Given the description of an element on the screen output the (x, y) to click on. 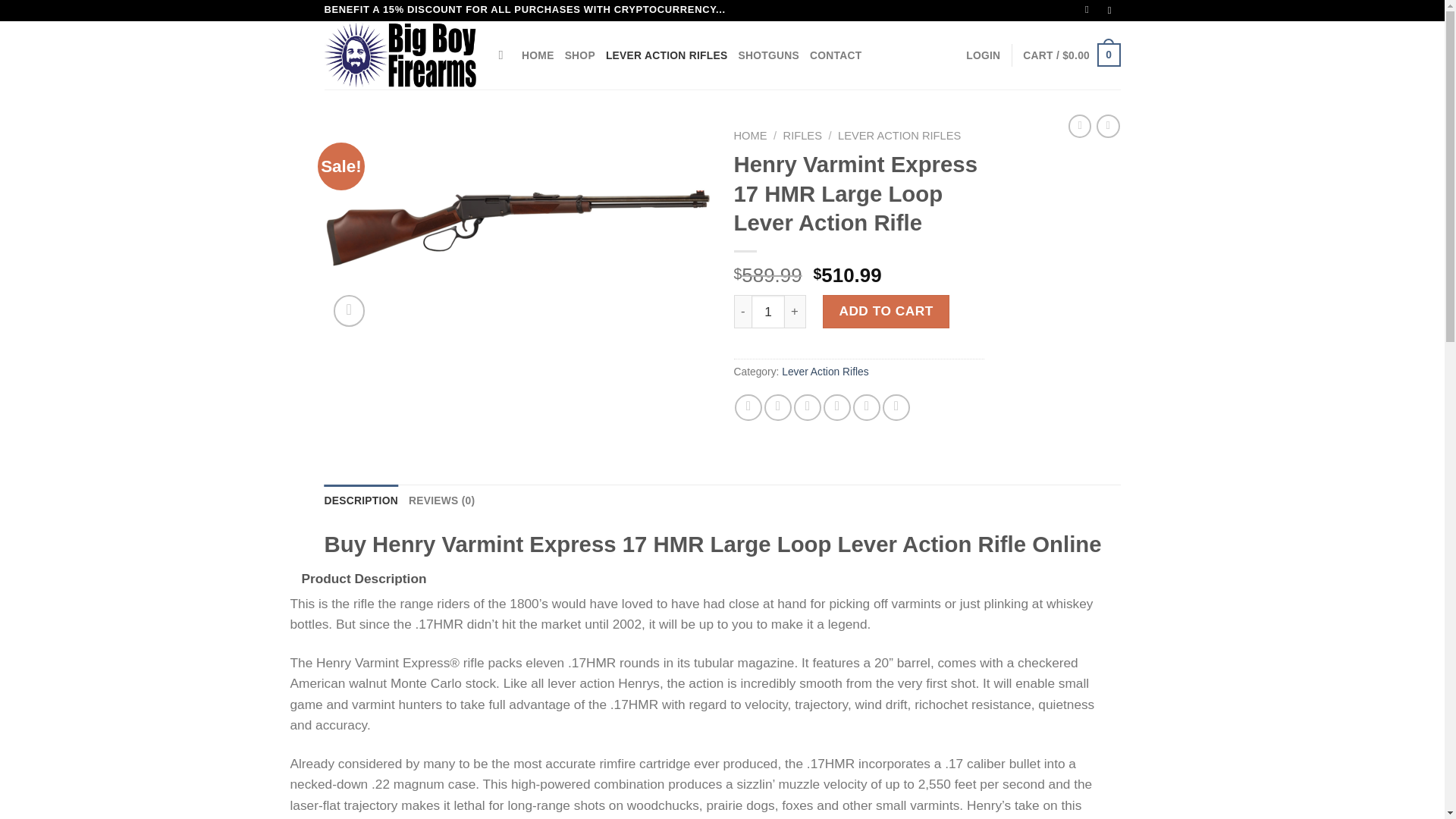
LOGIN (983, 55)
Big Boy Firearms - Henry Firearms For Sale (400, 54)
SHOP (579, 55)
ADD TO CART (886, 310)
Qty (767, 310)
HOME (537, 55)
LEVER ACTION RIFLES (666, 55)
HOME (750, 135)
CONTACT (835, 55)
Cart (1071, 54)
